Given the description of an element on the screen output the (x, y) to click on. 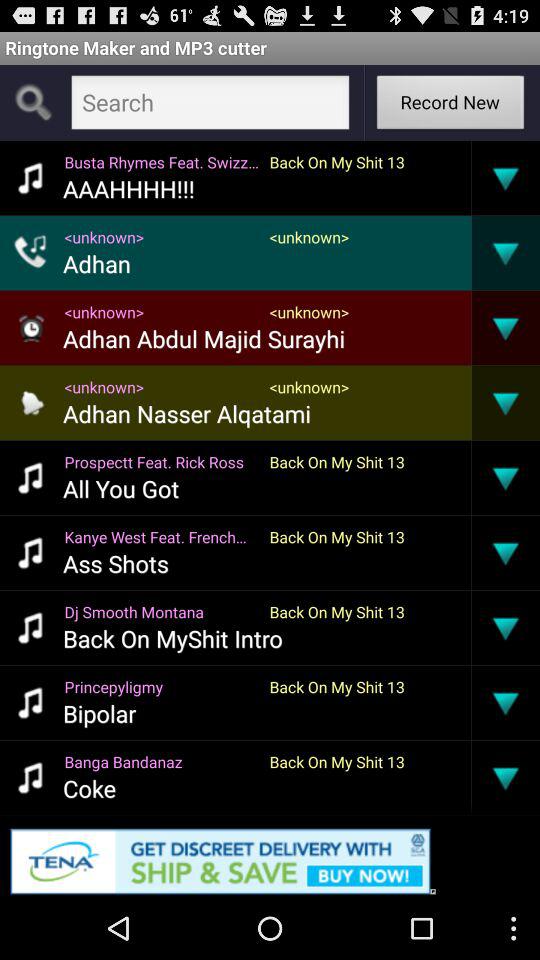
select the item next to back on my icon (115, 563)
